Given the description of an element on the screen output the (x, y) to click on. 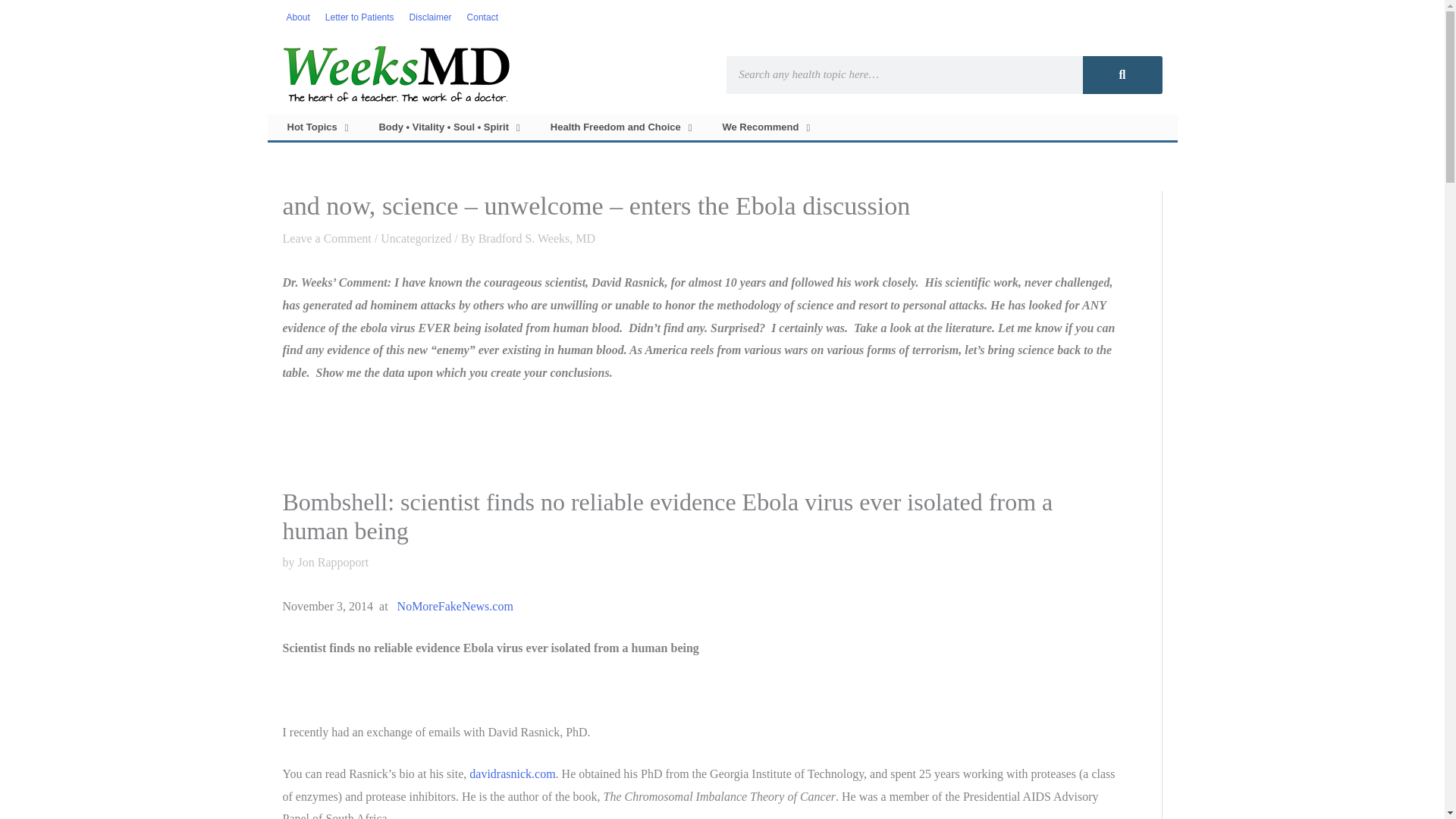
View all posts by Bradford S. Weeks, MD (537, 237)
View all posts by Jon Rappoport (332, 562)
